Given the description of an element on the screen output the (x, y) to click on. 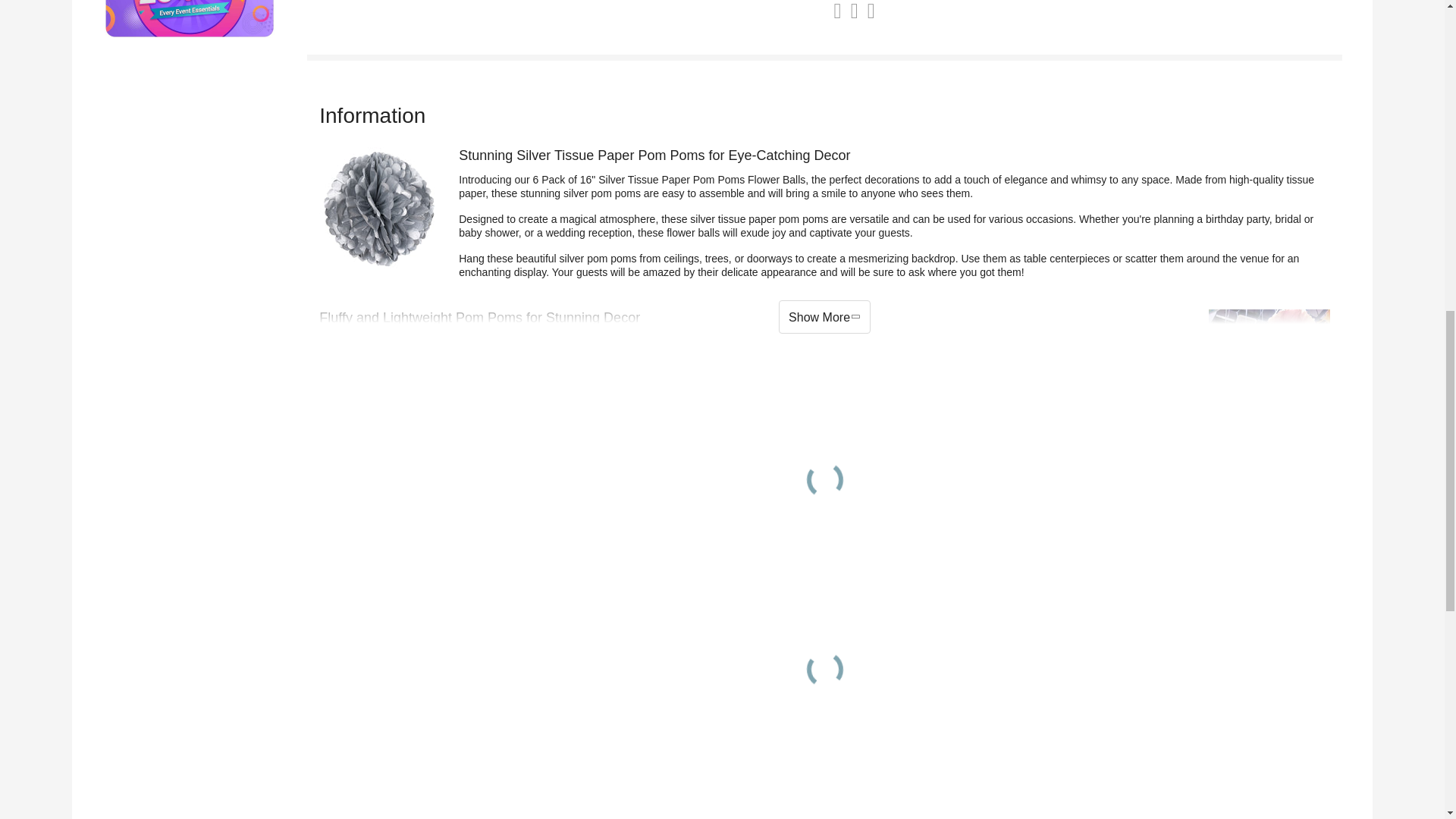
Stunning Silver Tissue Paper Pom Poms for Eye-Catching Decor (379, 207)
Fluffy and Lightweight Pom Poms for Stunning Decor (1269, 369)
